Given the description of an element on the screen output the (x, y) to click on. 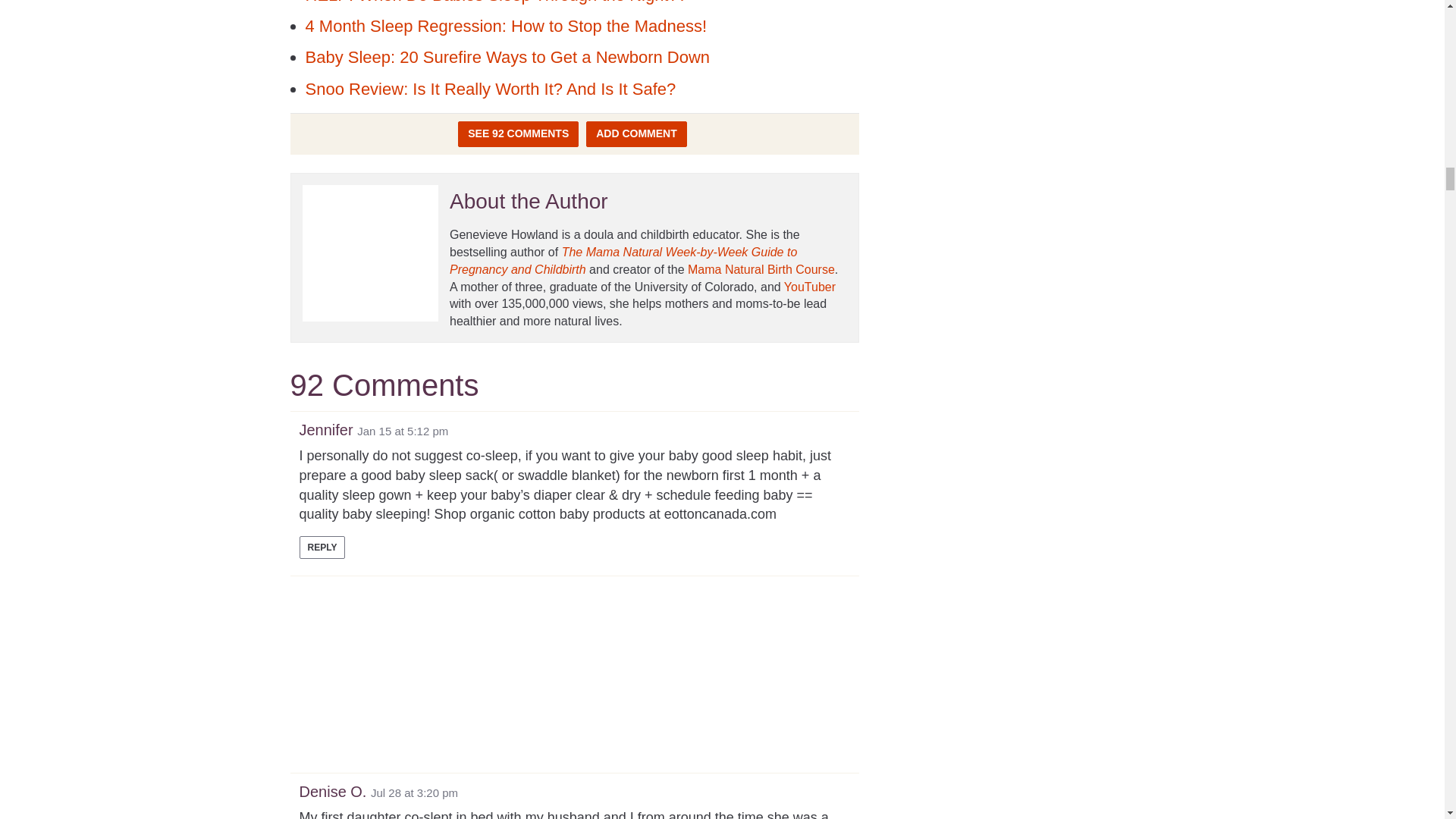
Snoo Review: Is It Really Worth It? And Is It Safe? (489, 88)
ADD COMMENT (636, 134)
Baby Sleep: 20 Surefire Ways to Get a Newborn Down (507, 56)
HELP! When Do Babies Sleep Through the Night?? (494, 2)
SEE 92 COMMENTS (518, 134)
4 Month Sleep Regression: How to Stop the Madness! (505, 26)
